Given the description of an element on the screen output the (x, y) to click on. 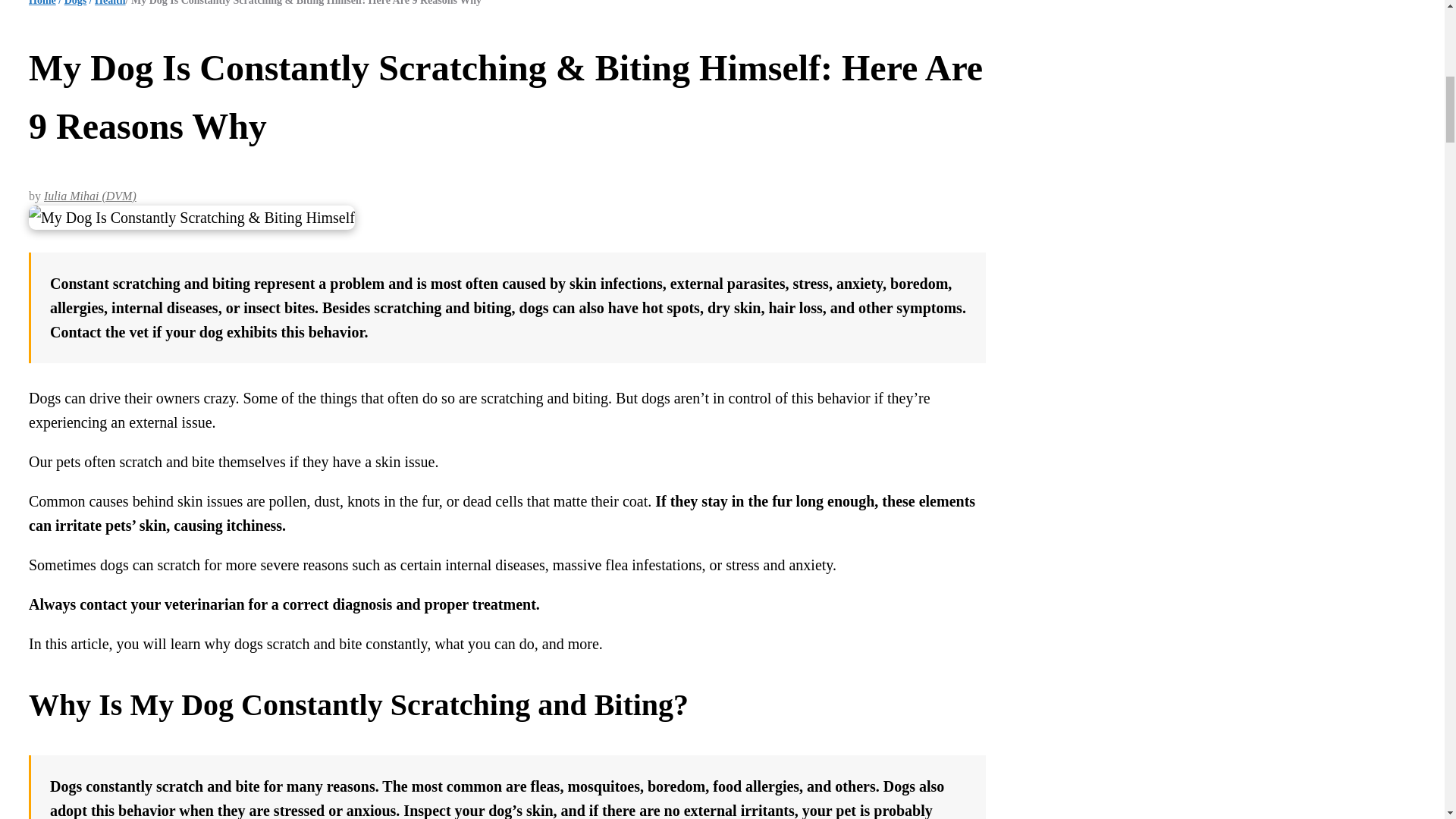
Home (42, 2)
Dogs (75, 2)
Health (109, 2)
